Given the description of an element on the screen output the (x, y) to click on. 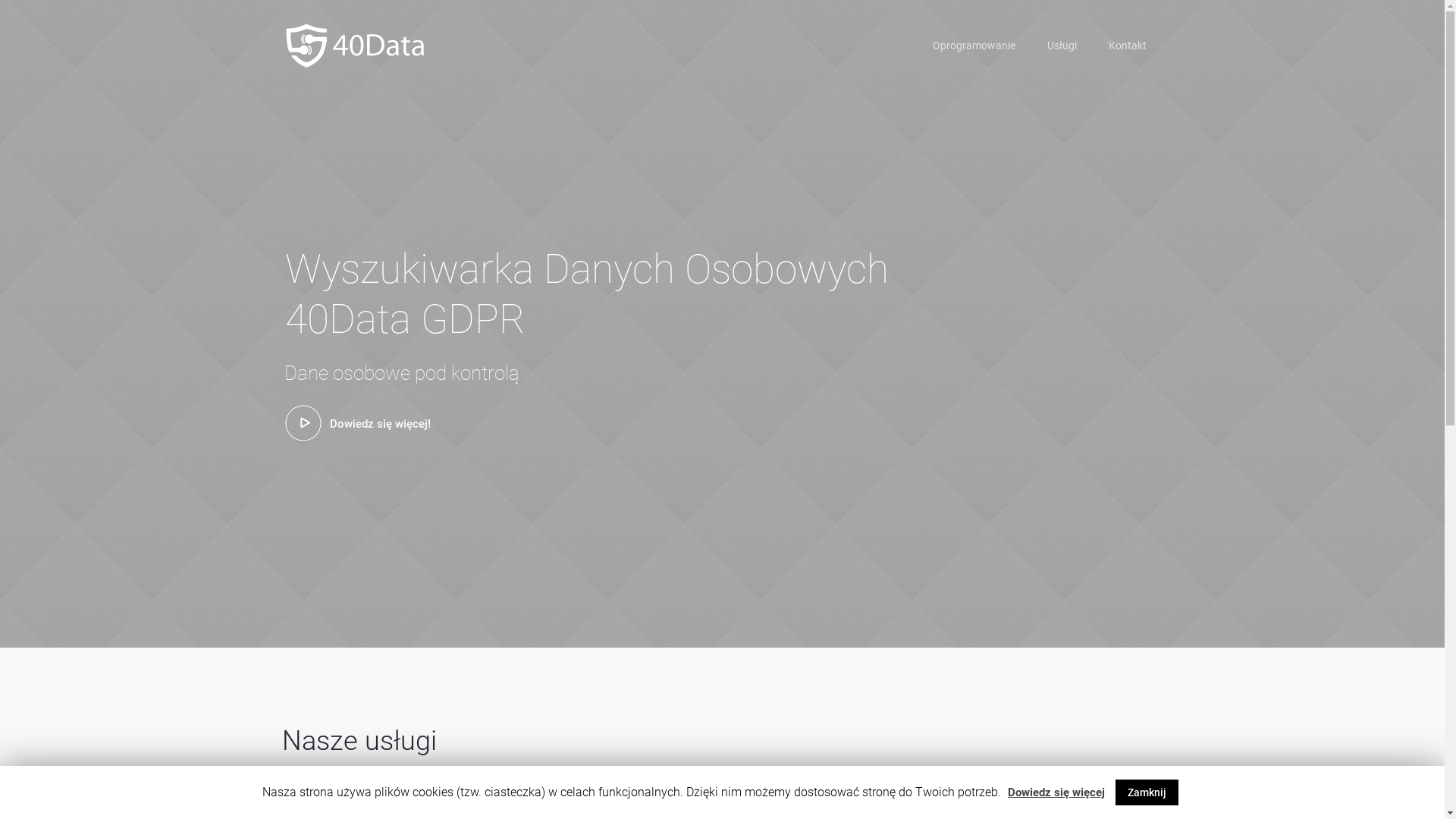
Kontakt Element type: text (1126, 45)
Oprogramowanie Element type: text (973, 45)
Zamknij Element type: text (1146, 792)
